Given the description of an element on the screen output the (x, y) to click on. 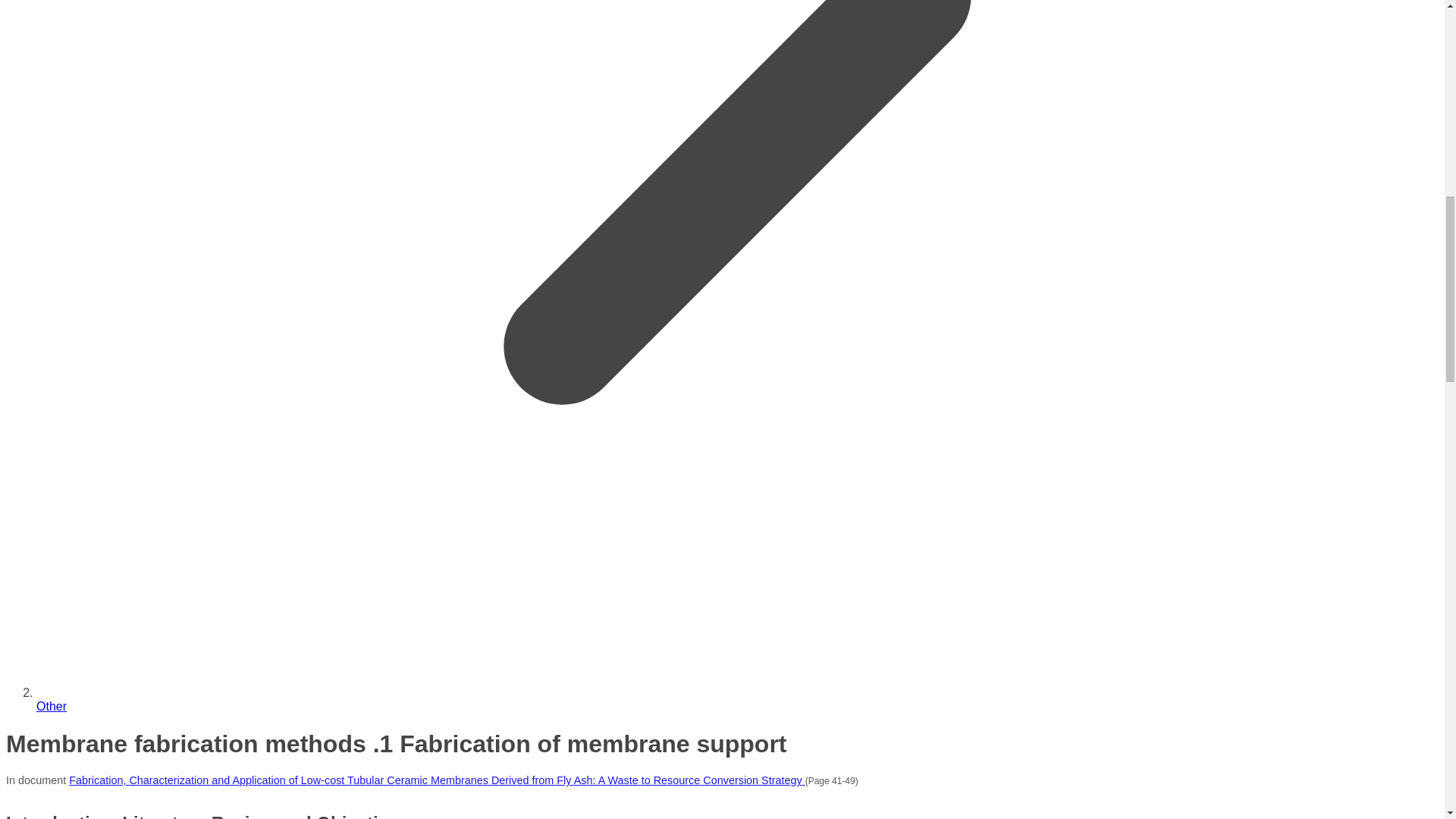
Other (51, 706)
